Given the description of an element on the screen output the (x, y) to click on. 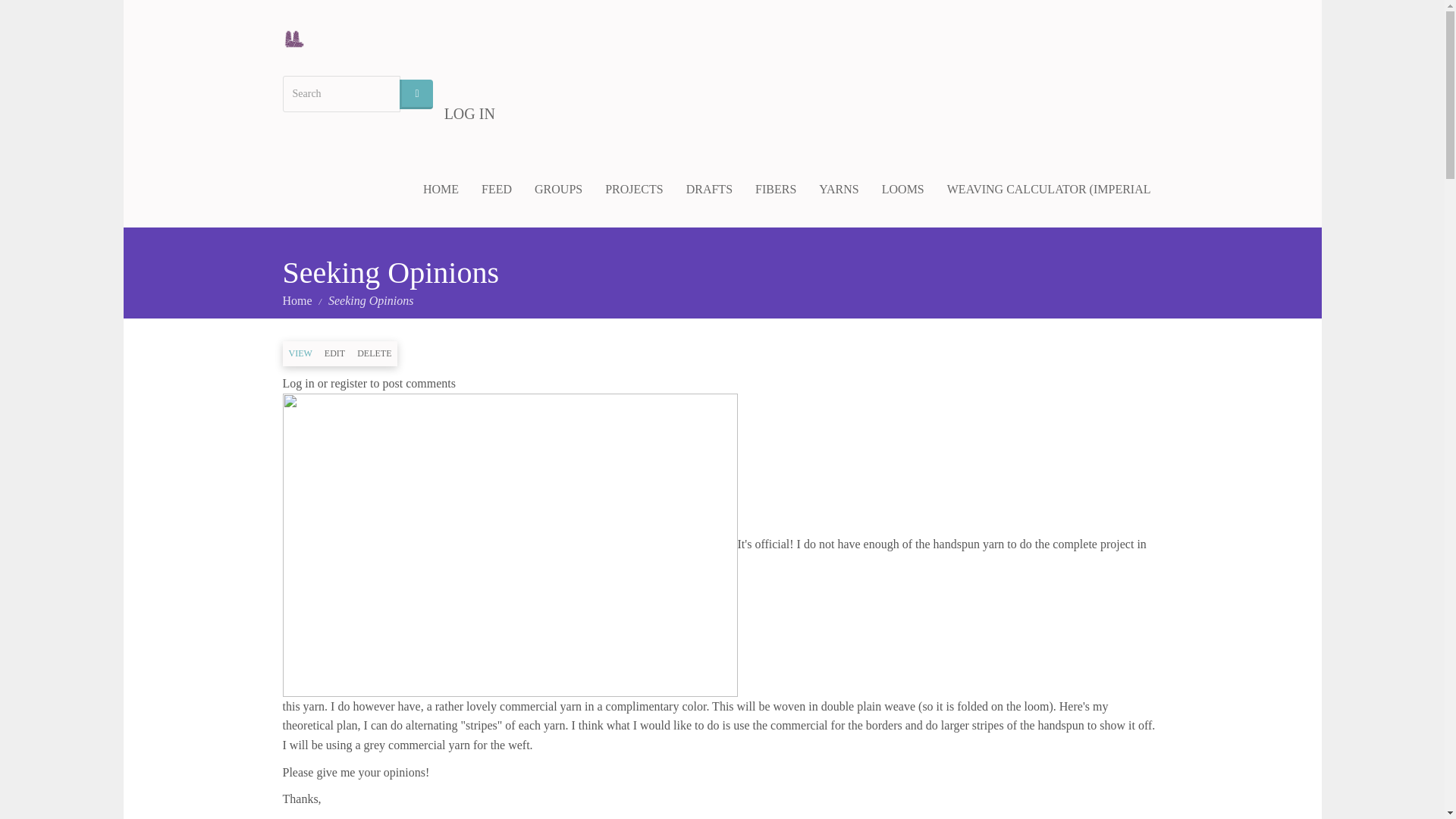
Home (298, 38)
DRAFTS (709, 189)
LOOMS (903, 189)
Search (415, 93)
The projects shared by the community. (634, 189)
Yarns, commercial and handspun in the community (838, 189)
FEED (496, 189)
EDIT (334, 353)
YARNS (838, 189)
GROUPS (558, 189)
